Given the description of an element on the screen output the (x, y) to click on. 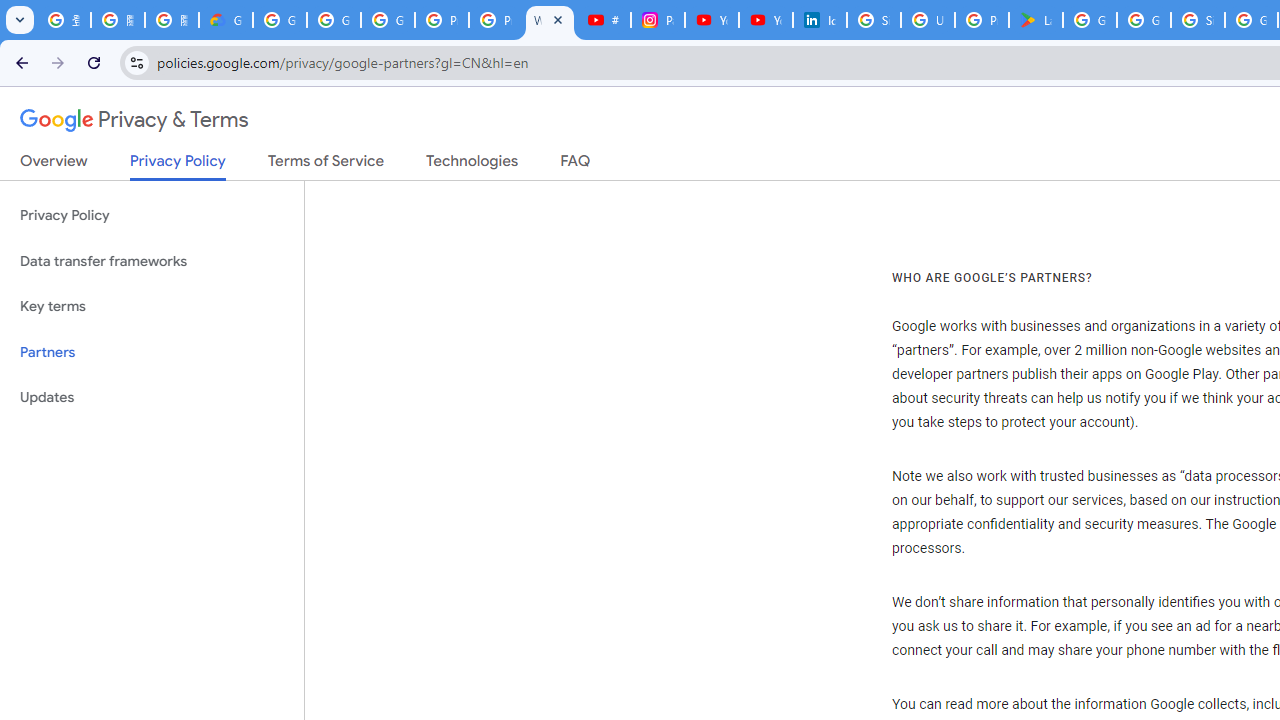
YouTube Culture & Trends - YouTube Top 10, 2021 (765, 20)
Sign in - Google Accounts (874, 20)
Sign in - Google Accounts (1197, 20)
